Given the description of an element on the screen output the (x, y) to click on. 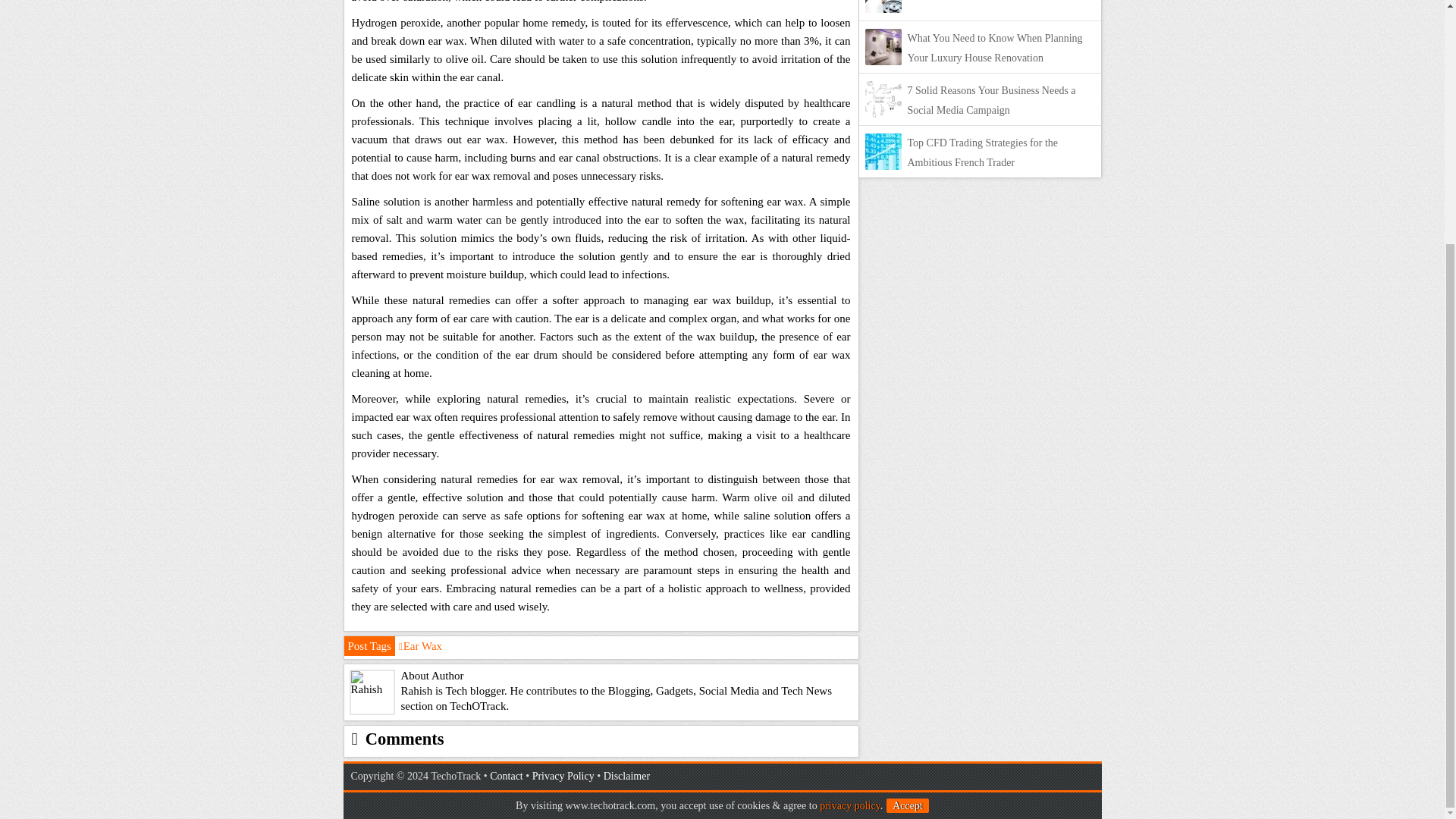
Privacy Policy (563, 776)
7 Solid Reasons Your Business Needs a Social Media Campaign (991, 100)
Contact (505, 776)
Accept (907, 466)
Top CFD Trading Strategies for the Ambitious French Trader (982, 152)
privacy policy (849, 466)
Disclaimer (626, 776)
Ear Wax (420, 645)
